Given the description of an element on the screen output the (x, y) to click on. 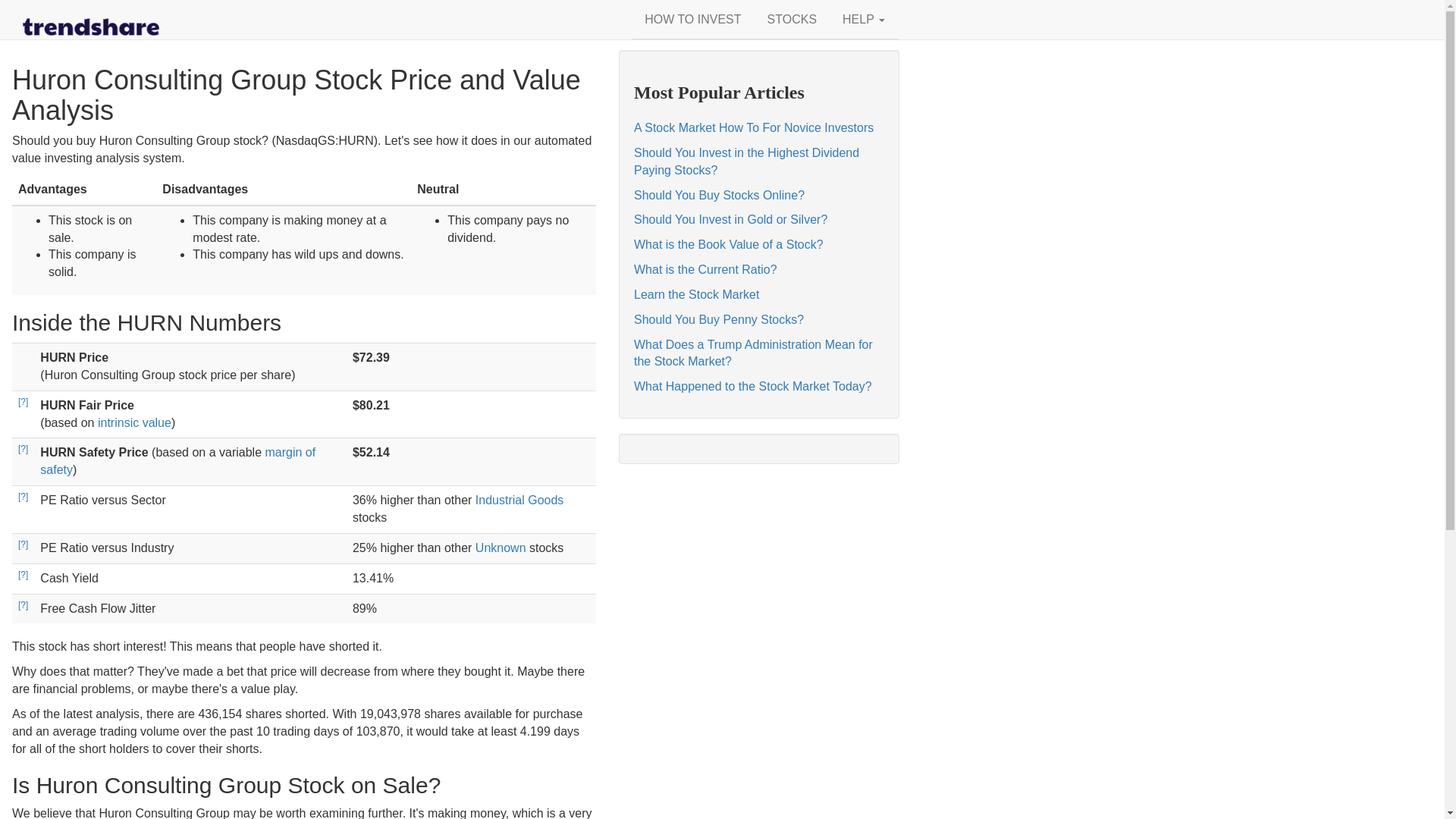
Trendshare logo (90, 26)
HELP (862, 19)
STOCKS (792, 19)
margin of safety (177, 460)
HOW TO INVEST (691, 19)
Industrial Goods (520, 499)
intrinsic value (134, 422)
Unknown (500, 547)
Home (90, 18)
